Given the description of an element on the screen output the (x, y) to click on. 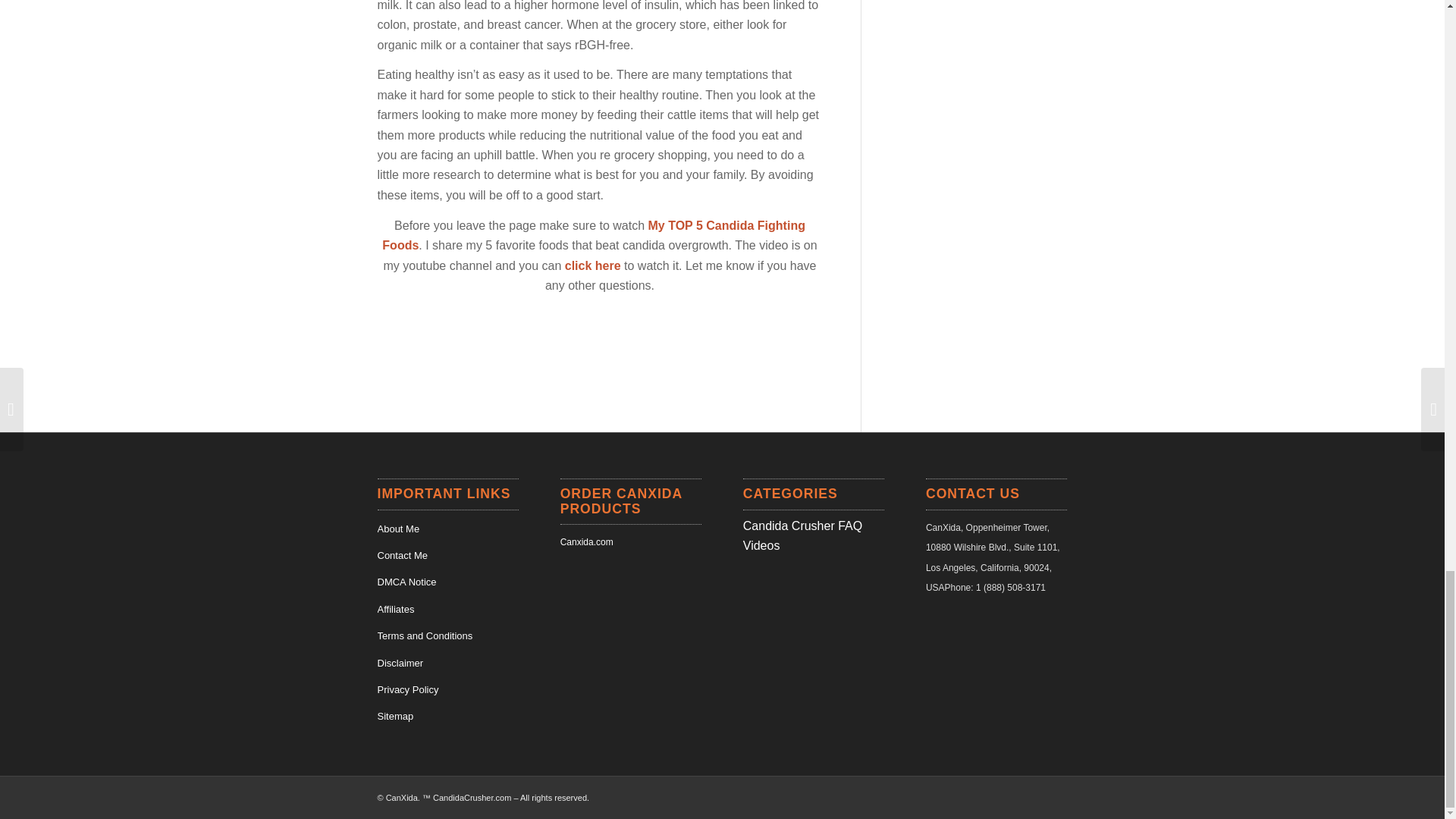
My TOP 5 Candida Fighting Foods (593, 235)
click here (592, 265)
